Given the description of an element on the screen output the (x, y) to click on. 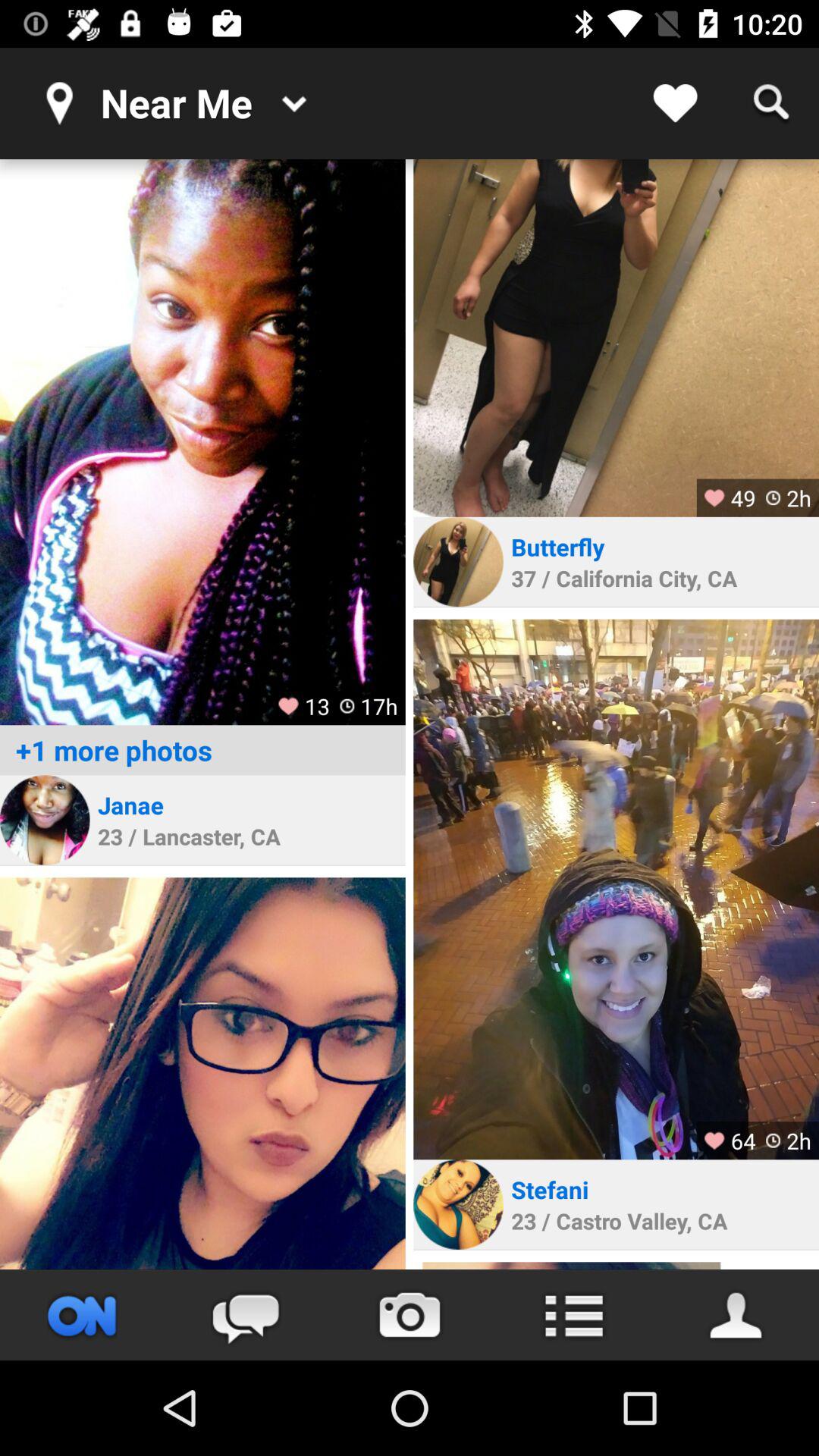
people search (737, 1315)
